Given the description of an element on the screen output the (x, y) to click on. 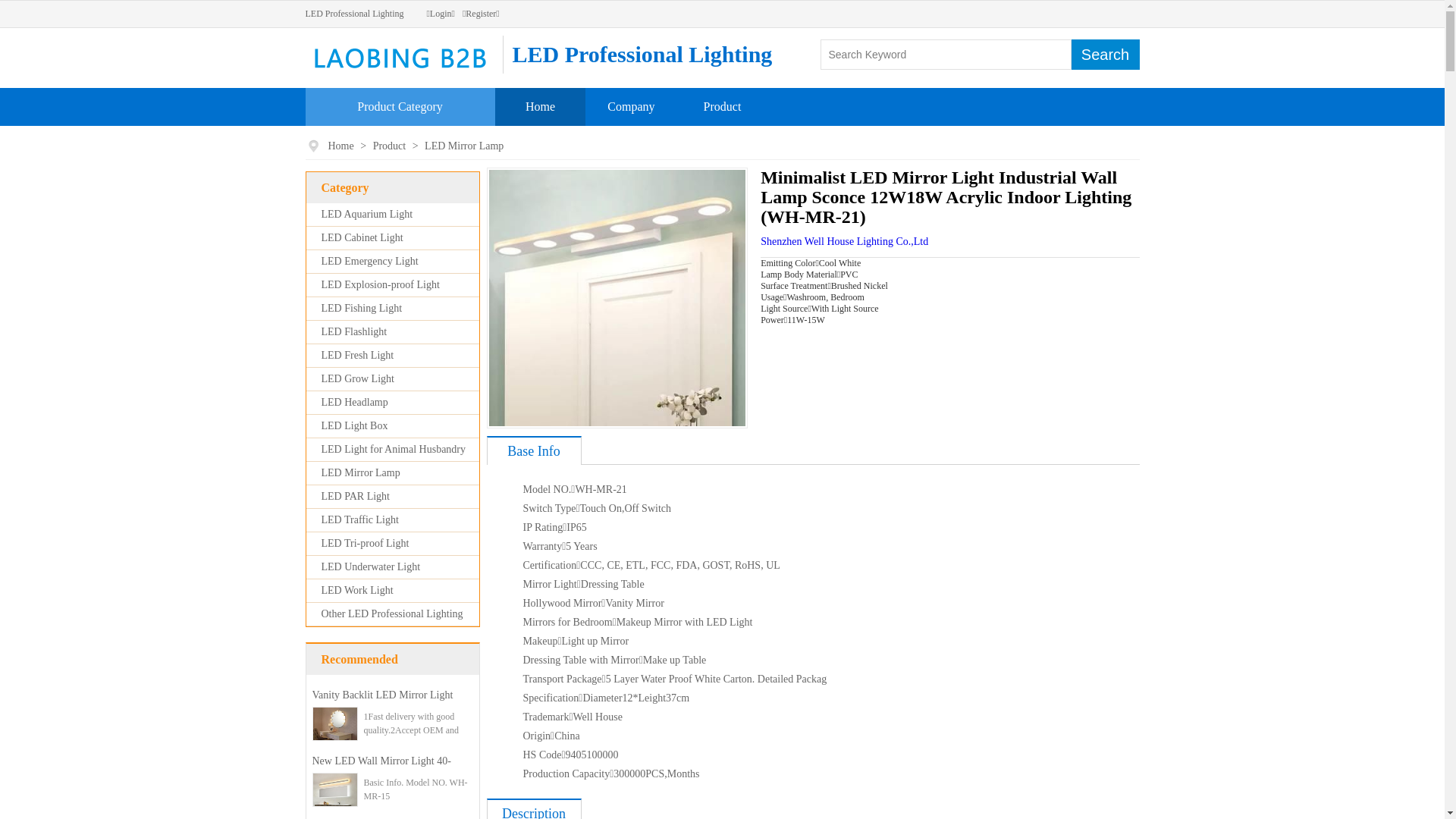
LED Light for Animal Husbandry Element type: text (393, 449)
LED Professional Lighting Element type: text (353, 13)
LED Headlamp Element type: text (354, 401)
LED Underwater Light Element type: text (370, 566)
LED Work Light Element type: text (357, 590)
LED Cabinet Light Element type: text (362, 237)
Other LED Professional Lighting Element type: text (392, 613)
LED Fresh Light Element type: text (357, 354)
LED Flashlight Element type: text (354, 331)
Search Element type: text (1104, 54)
LED Light Box Element type: text (354, 425)
Shenzhen Well House Lighting Co.,Ltd Element type: text (844, 241)
Product Category Element type: text (399, 106)
LED Traffic Light Element type: text (359, 519)
LED Tri-proof Light Element type: text (365, 543)
LED Emergency Light Element type: text (369, 260)
LED Fishing Light Element type: text (361, 307)
Home Element type: text (340, 145)
LED Mirror Lamp Element type: text (463, 145)
Product Element type: text (390, 145)
Company Element type: text (630, 106)
Product Element type: text (722, 106)
LED PAR Light Element type: text (355, 496)
LED Aquarium Light Element type: text (367, 213)
LED Mirror Lamp Element type: text (360, 472)
LED Explosion-proof Light Element type: text (380, 284)
Home Element type: text (540, 106)
LED Grow Light Element type: text (357, 378)
